Given the description of an element on the screen output the (x, y) to click on. 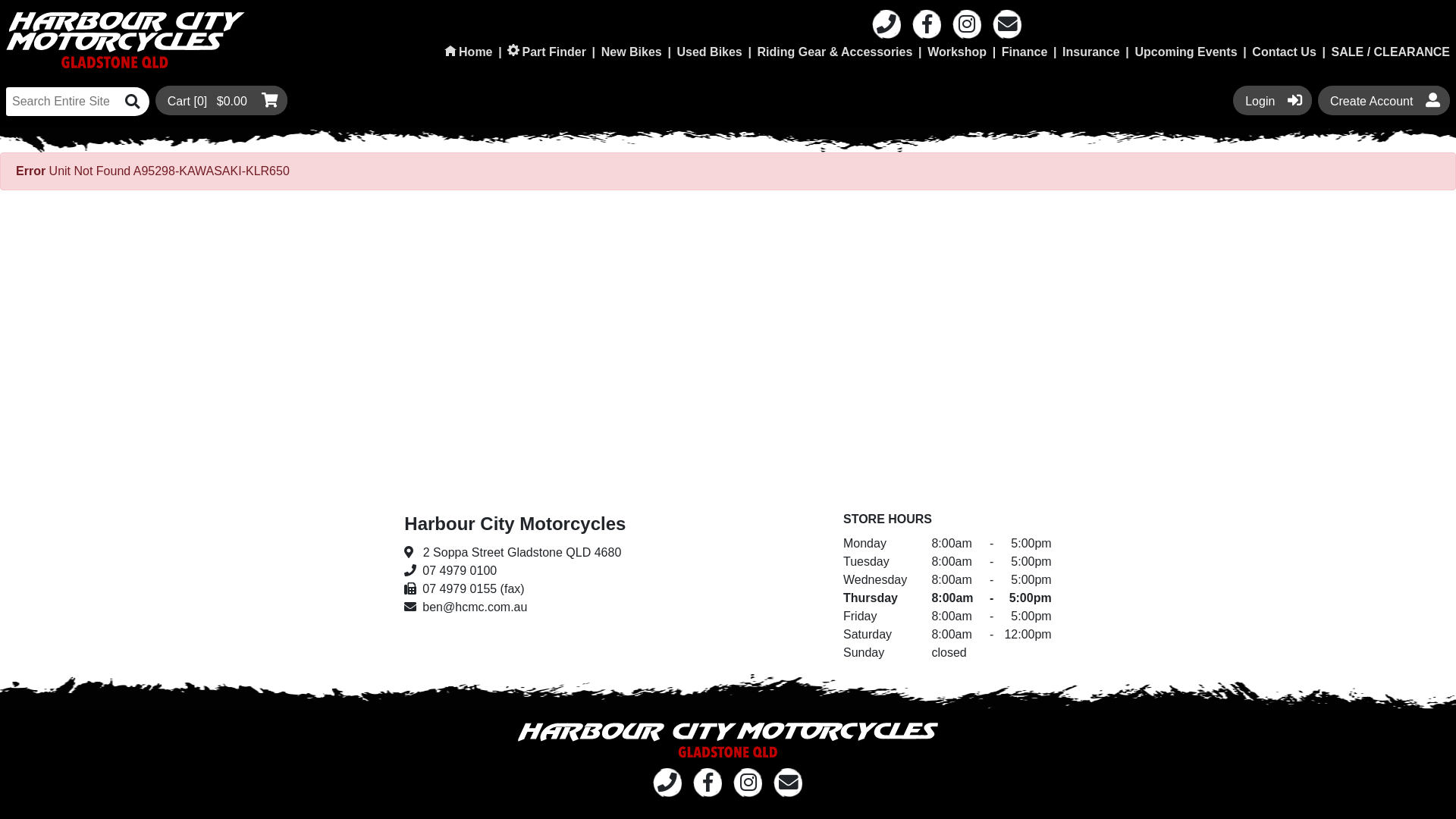
Insurance Element type: text (1091, 51)
Upcoming Events Element type: text (1185, 51)
ben@hcmc.com.au Element type: text (514, 607)
Finance Element type: text (1024, 51)
Contact Us Element type: text (1283, 51)
Part Finder Element type: text (546, 51)
Used Bikes Element type: text (708, 51)
New Bikes Element type: text (631, 51)
Create Account Element type: text (1383, 99)
Cart 0 0.00 Element type: text (221, 99)
Home Element type: text (468, 51)
SALE / CLEARANCE Element type: text (1390, 51)
Workshop Element type: text (956, 51)
07 4979 0100 Element type: text (514, 570)
Login Element type: text (1272, 99)
Riding Gear & Accessories Element type: text (835, 51)
2 Soppa Street Gladstone QLD 4680 Element type: text (514, 552)
